Given the description of an element on the screen output the (x, y) to click on. 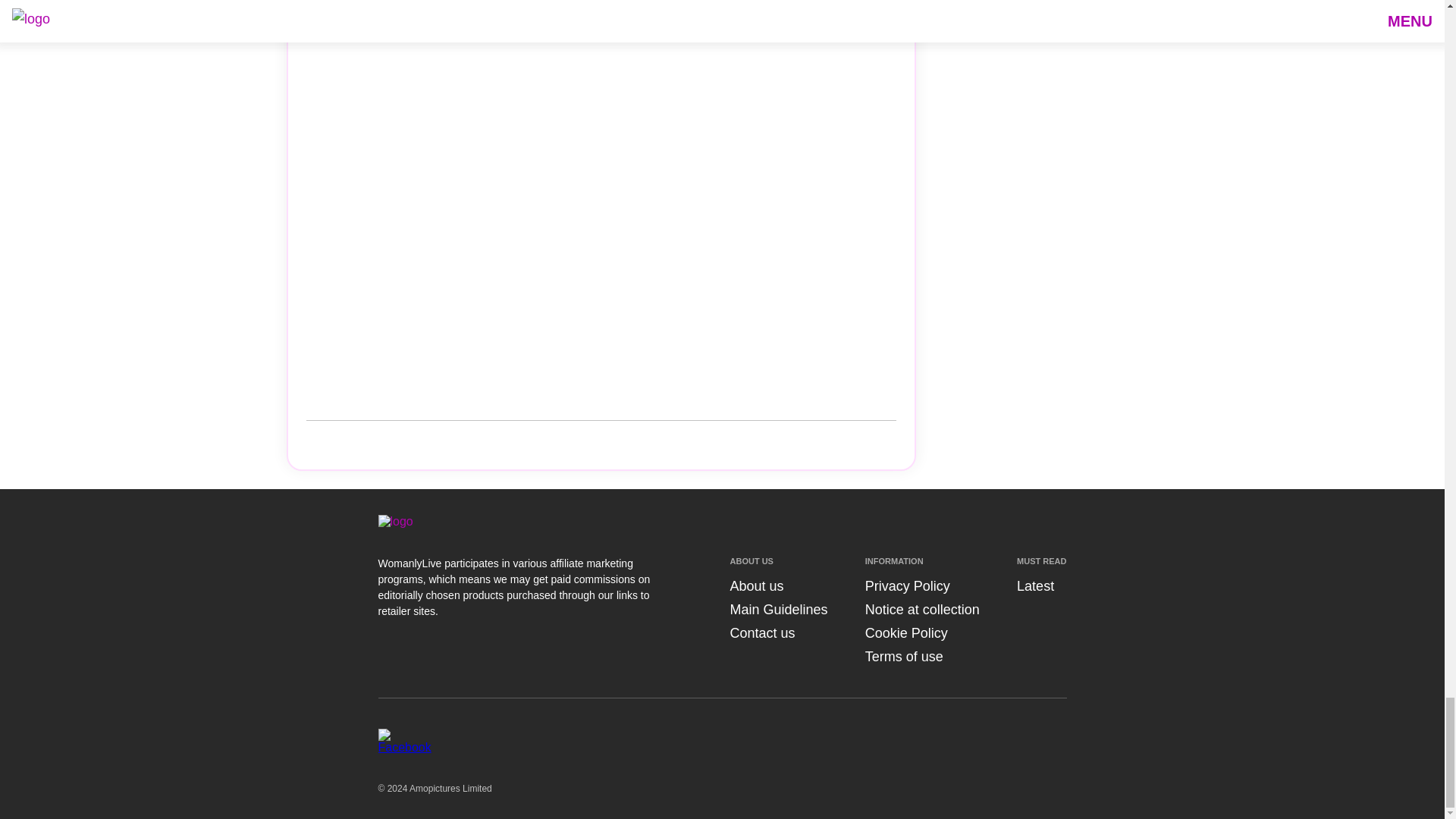
Privacy Policy (907, 585)
Contact us (761, 632)
About us (756, 585)
Main Guidelines (778, 609)
